Given the description of an element on the screen output the (x, y) to click on. 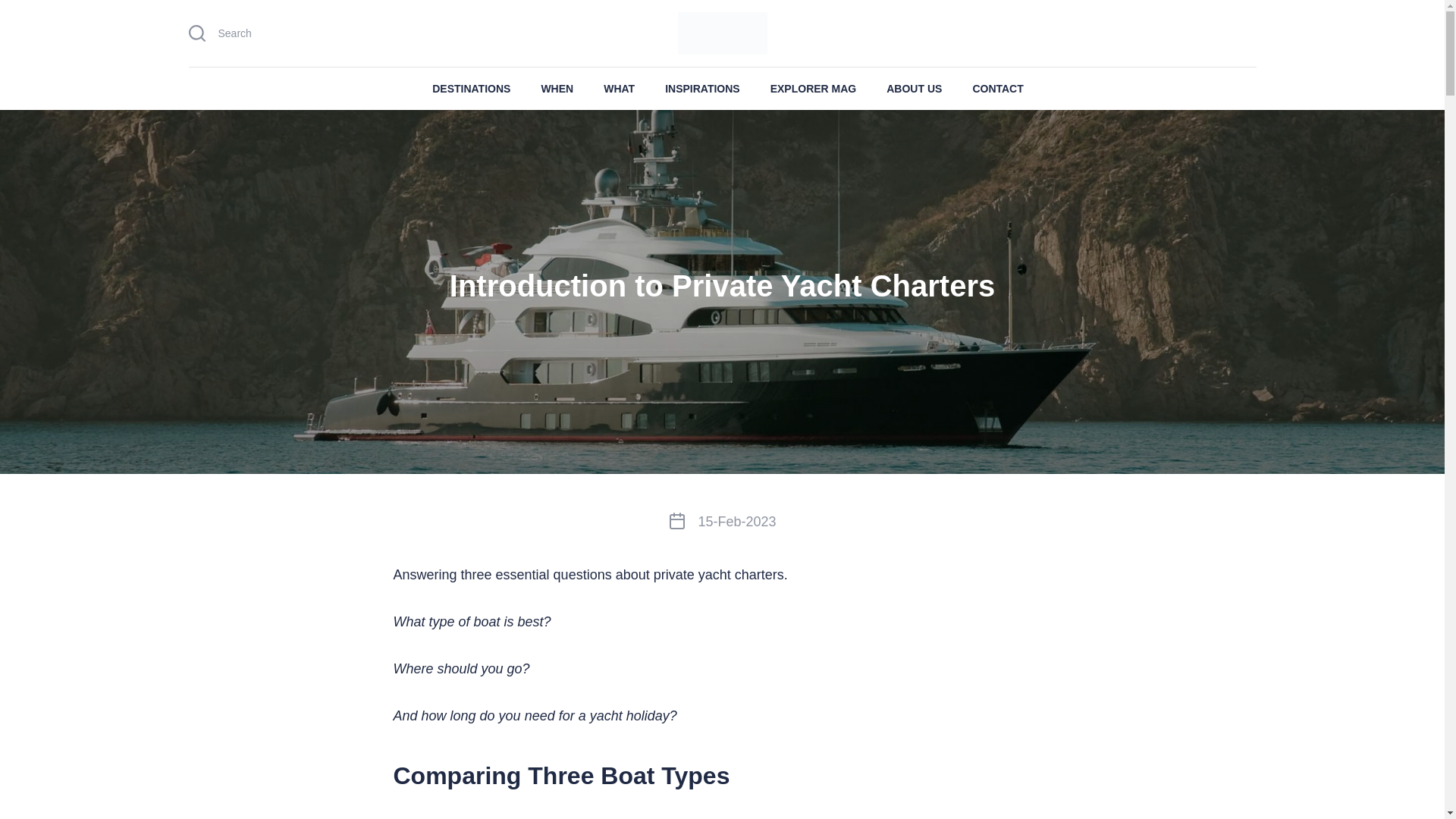
DESTINATIONS (471, 88)
